Given the description of an element on the screen output the (x, y) to click on. 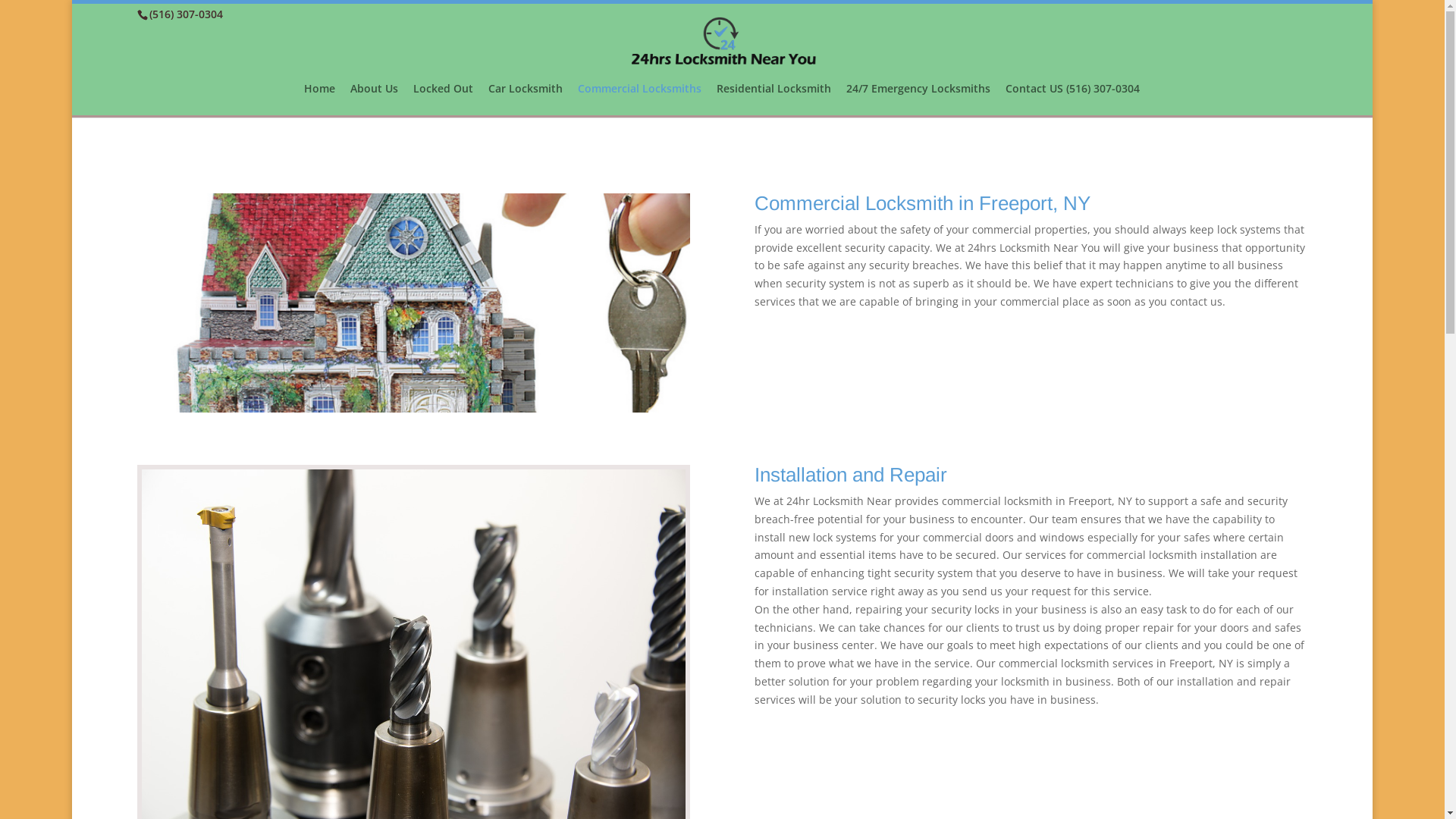
Residential Locksmith Element type: text (773, 99)
About Us Element type: text (374, 99)
Car Locksmith Element type: text (525, 99)
Commercial Locksmiths Element type: text (639, 99)
24/7 Emergency Locksmiths Element type: text (918, 99)
Locked Out Element type: text (443, 99)
Home Element type: text (319, 99)
Contact US (516) 307-0304 Element type: text (1072, 99)
